Given the description of an element on the screen output the (x, y) to click on. 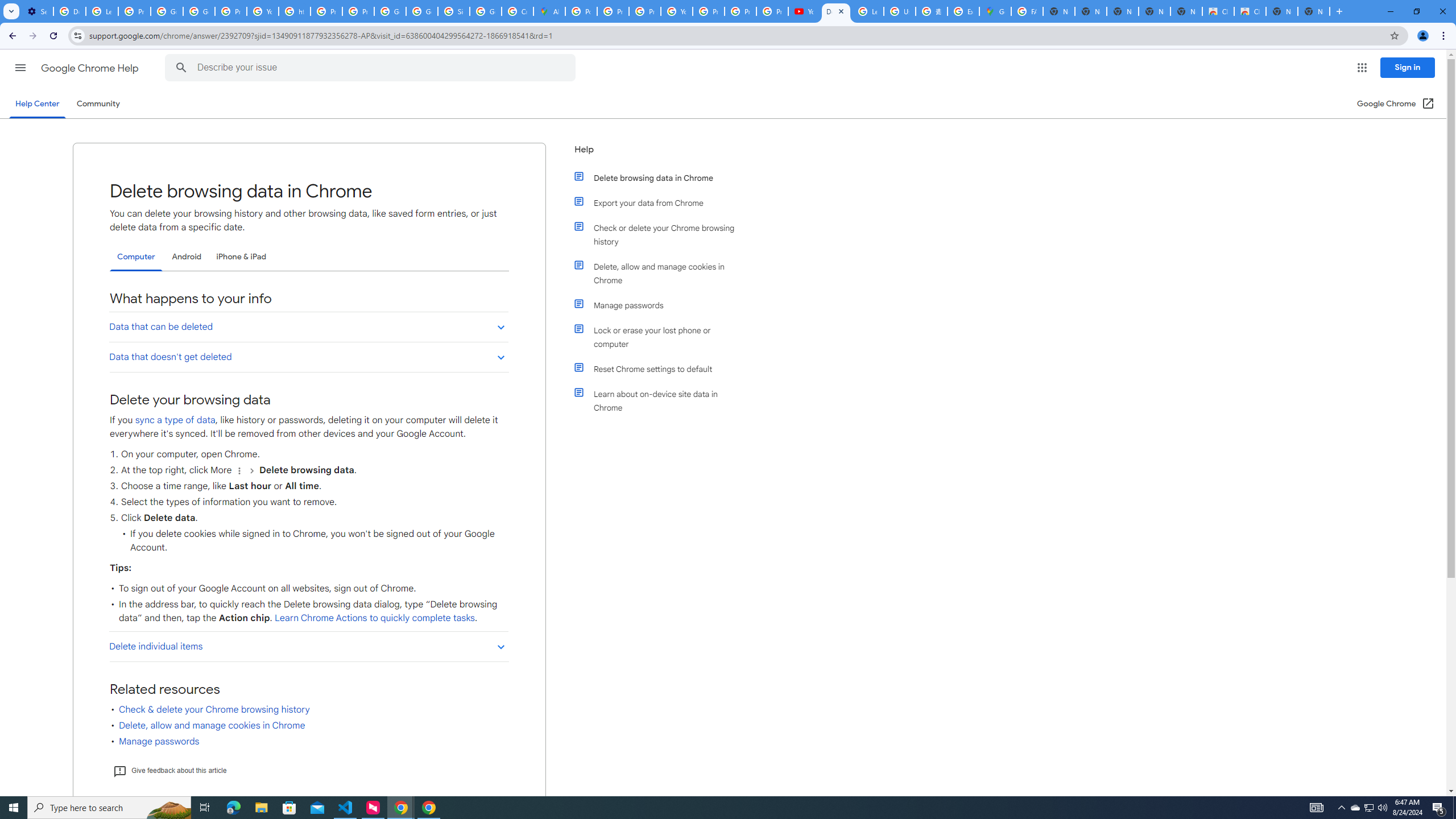
https://scholar.google.com/ (294, 11)
More (239, 470)
Computer (136, 257)
Delete browsing data in Chrome (661, 177)
Privacy Checkup (772, 11)
Settings - On startup (37, 11)
Android (186, 256)
